Given the description of an element on the screen output the (x, y) to click on. 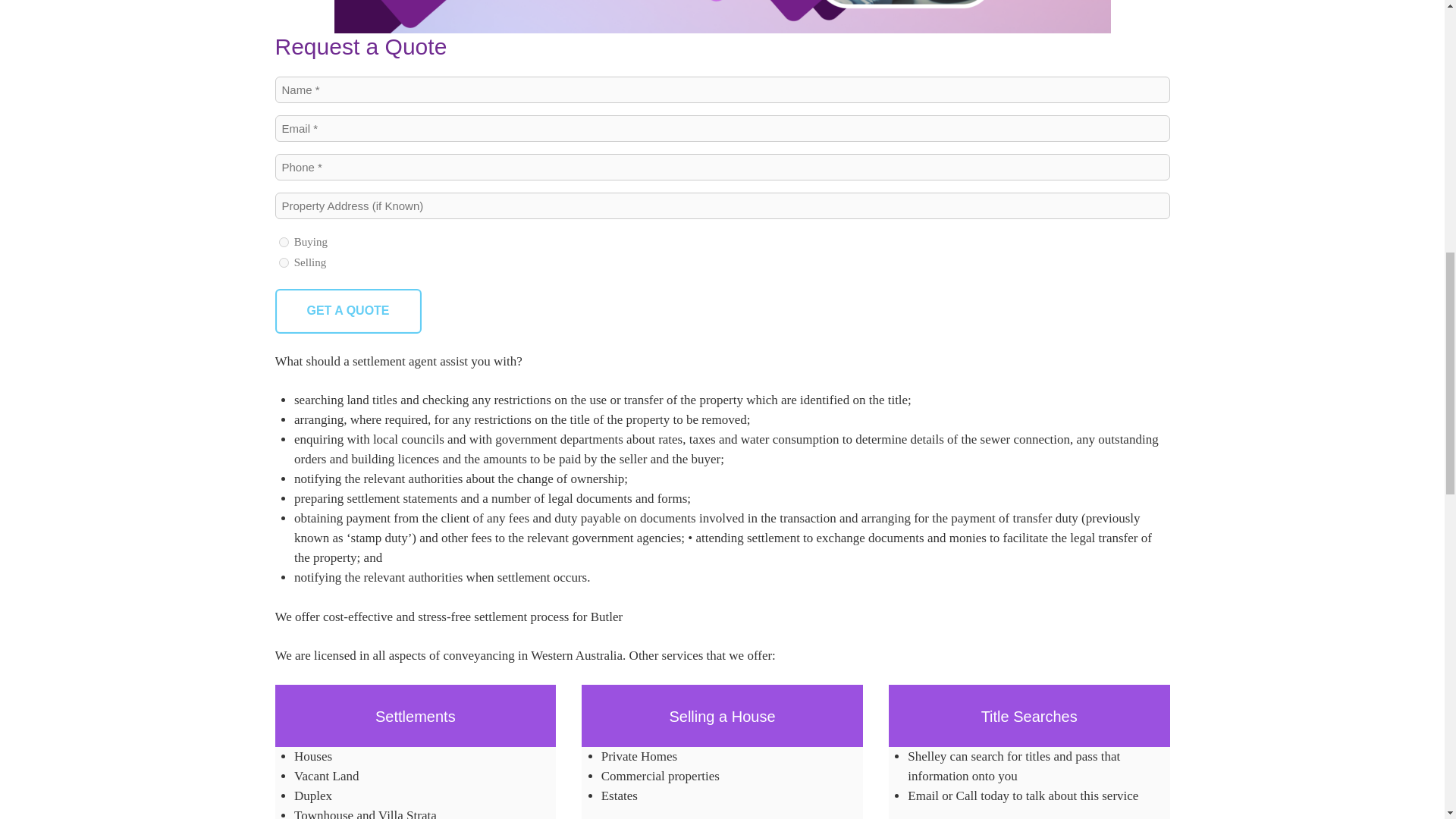
Selling (283, 262)
Get a Quote (347, 311)
Get a Quote (347, 311)
Buying (283, 242)
